Given the description of an element on the screen output the (x, y) to click on. 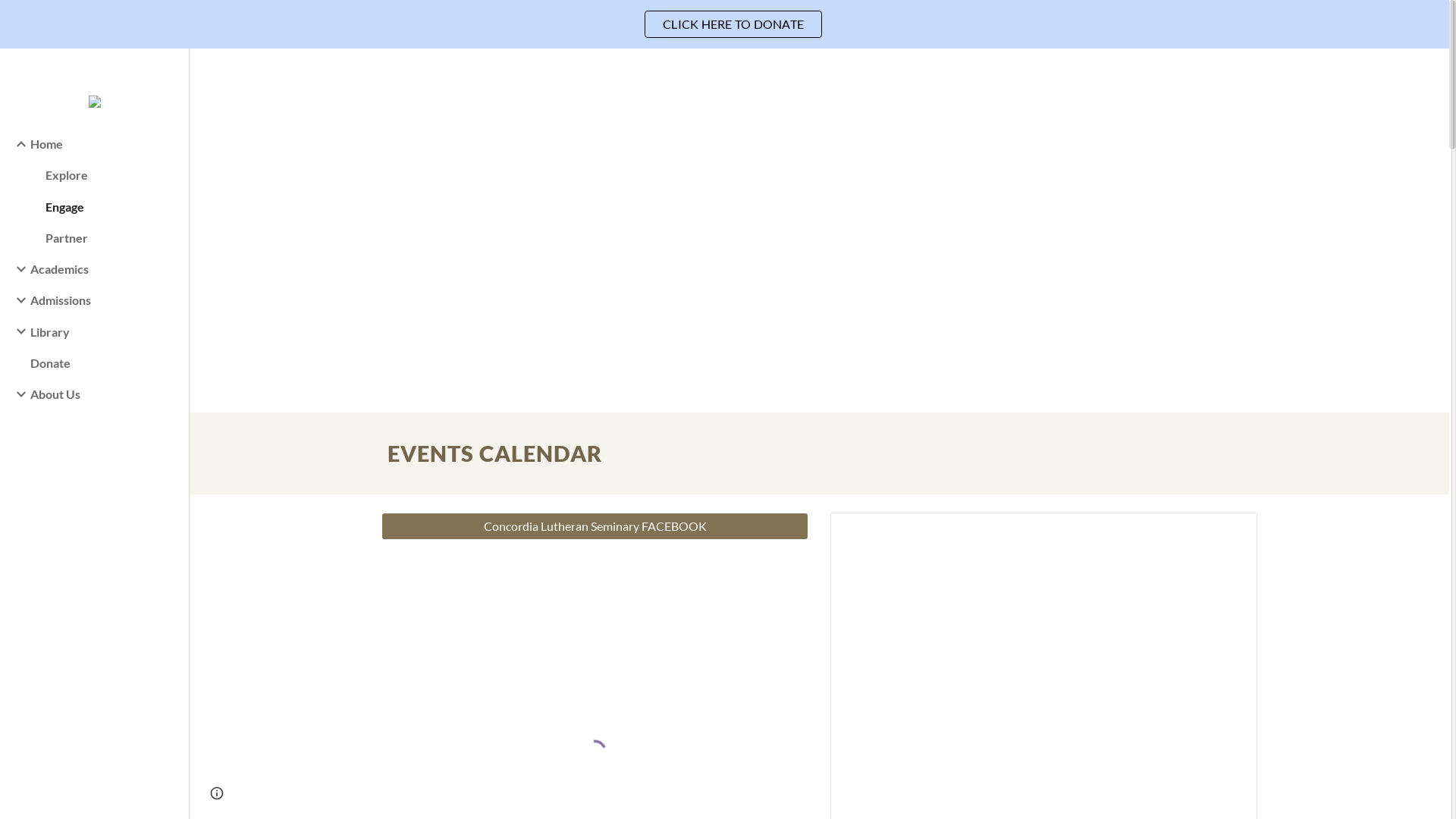
CLICK HERE TO DONATE Element type: text (733, 24)
About Us Element type: text (103, 393)
Donate Element type: text (103, 362)
Expand/Collapse Element type: hover (16, 394)
Expand/Collapse Element type: hover (16, 331)
Academics Element type: text (103, 268)
Admissions Element type: text (103, 299)
Expand/Collapse Element type: hover (16, 300)
Expand/Collapse Element type: hover (16, 269)
Expand/Collapse Element type: hover (16, 143)
Engage Element type: text (110, 206)
Explore Element type: text (110, 174)
Library Element type: text (103, 331)
Home Element type: text (103, 143)
Partner Element type: text (110, 237)
Concordia Lutheran Seminary FACEBOOK Element type: text (594, 525)
